Given the description of an element on the screen output the (x, y) to click on. 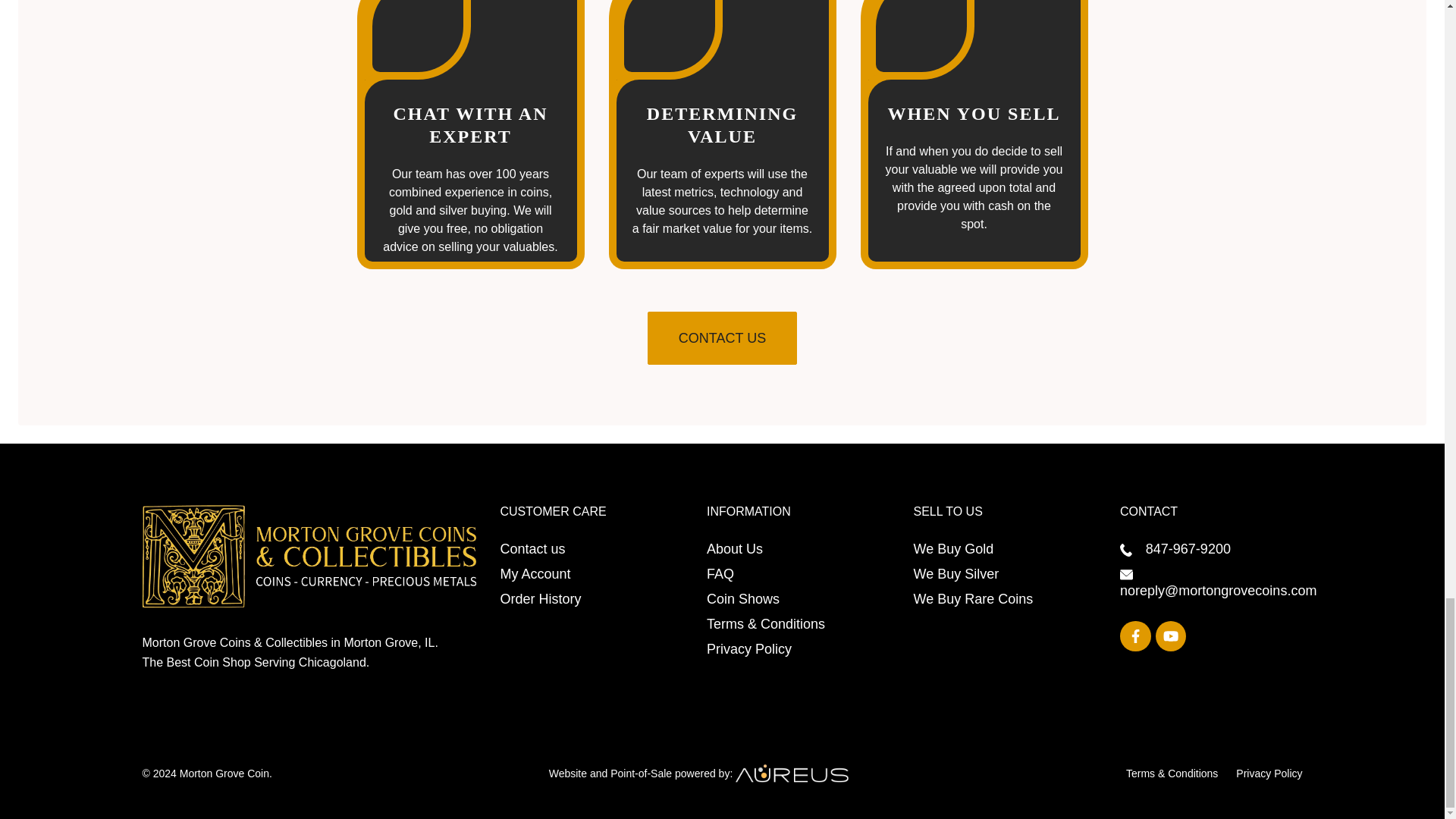
Contact us (533, 548)
CONTACT US (721, 338)
